Given the description of an element on the screen output the (x, y) to click on. 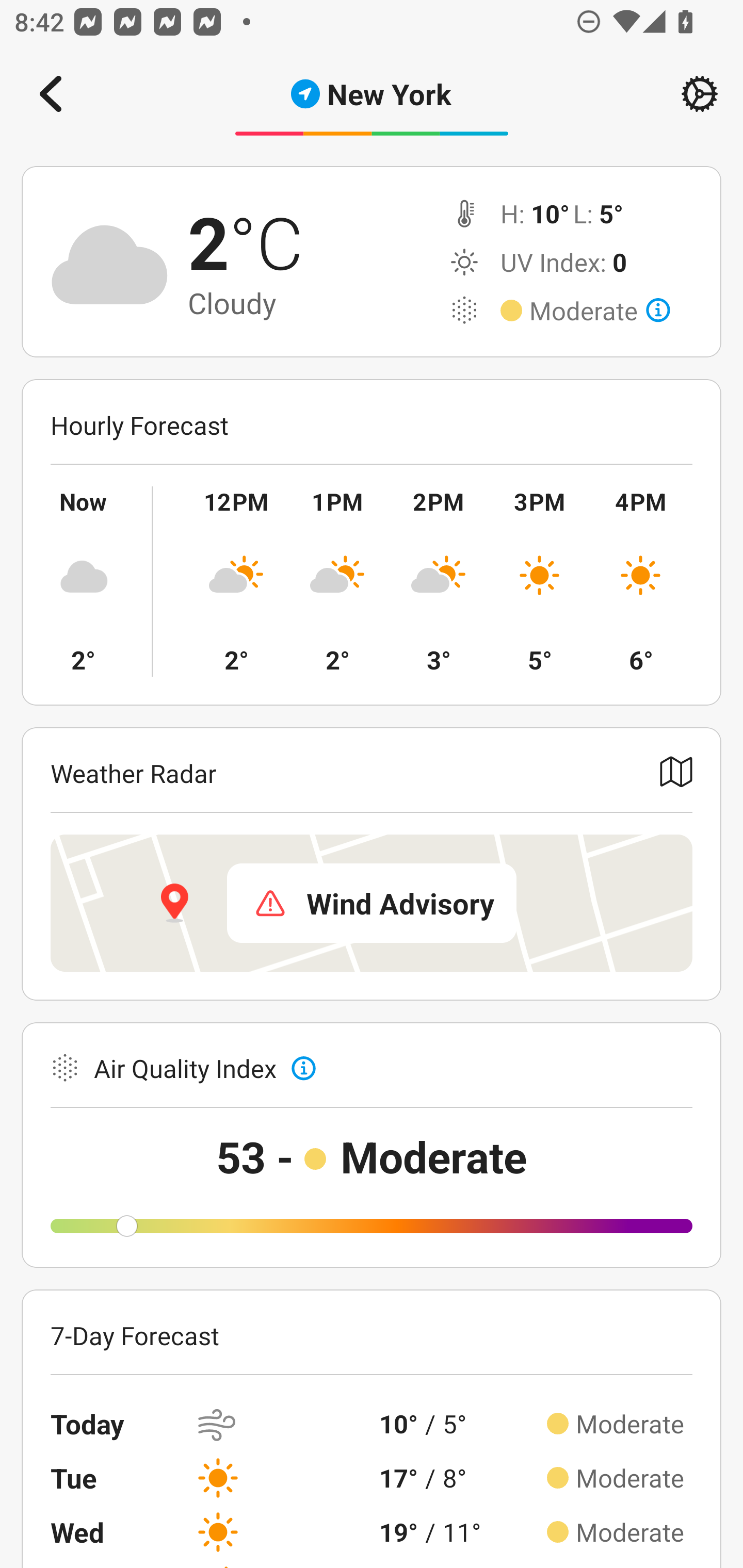
Navigate up (50, 93)
Setting (699, 93)
Moderate (599, 310)
Wind Advisory (371, 903)
